Given the description of an element on the screen output the (x, y) to click on. 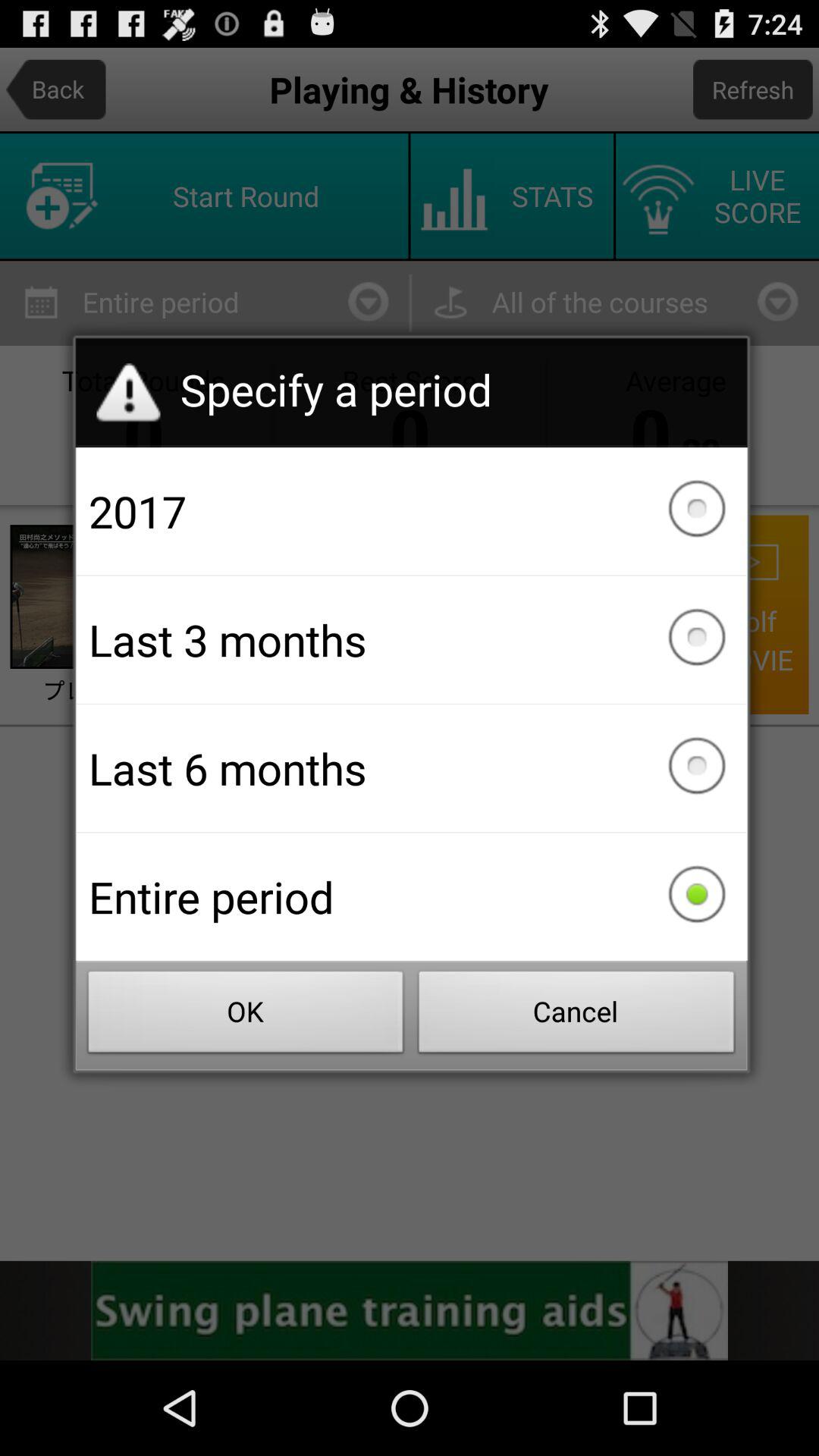
flip to the cancel (576, 1016)
